Given the description of an element on the screen output the (x, y) to click on. 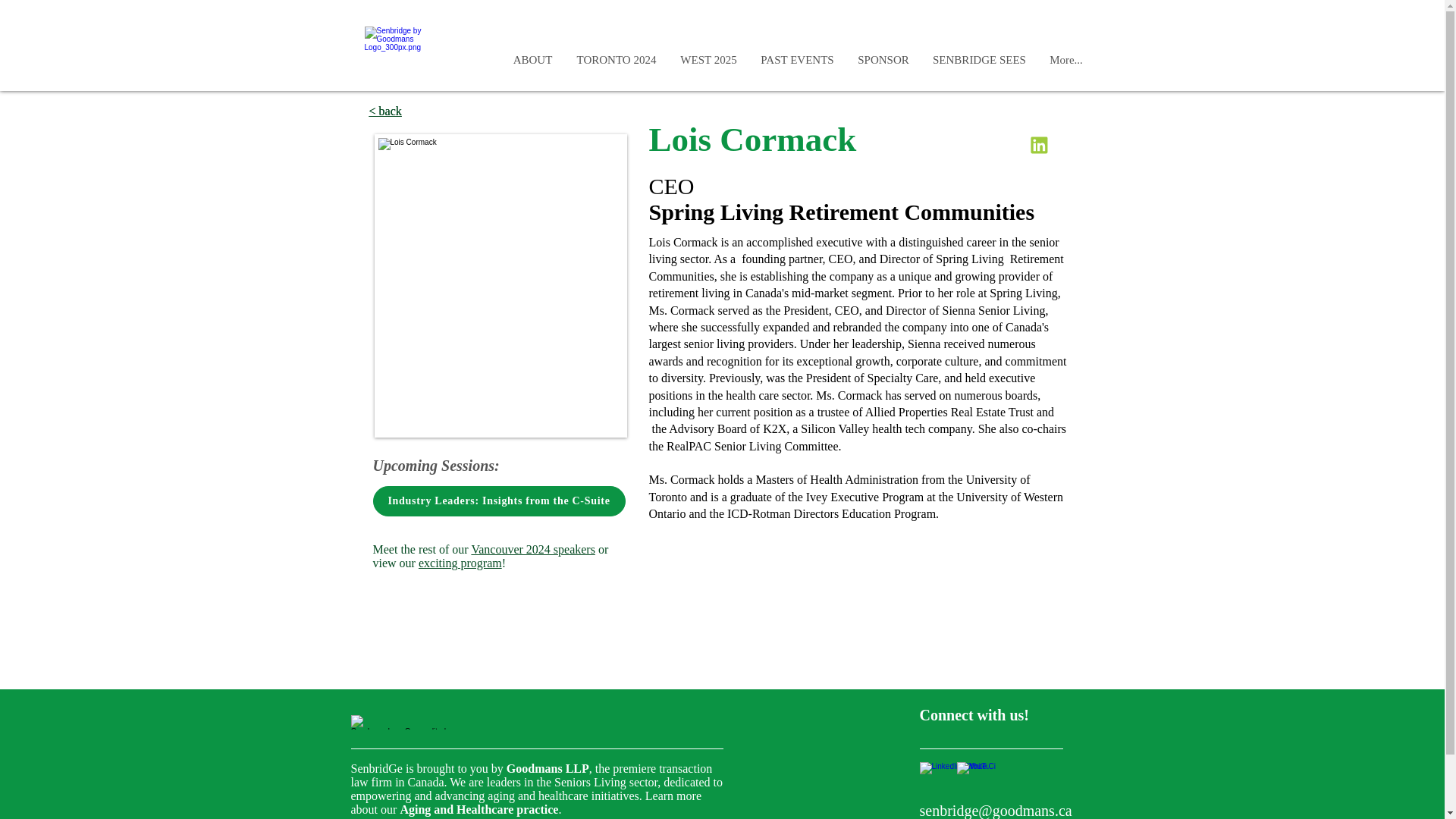
Industry Leaders: Insights from the C-Suite (499, 501)
ABOUT (532, 60)
Lois Cormack (500, 285)
SPONSOR (883, 60)
SENBRIDGE SEES (978, 60)
TORONTO 2024 (616, 60)
Vancouver 2024 speakers (532, 549)
exciting program (460, 562)
WEST 2025 (708, 60)
Goodmans LLP (547, 768)
Aging and Healthcare practice. (479, 809)
PAST EVENTS (797, 60)
